Given the description of an element on the screen output the (x, y) to click on. 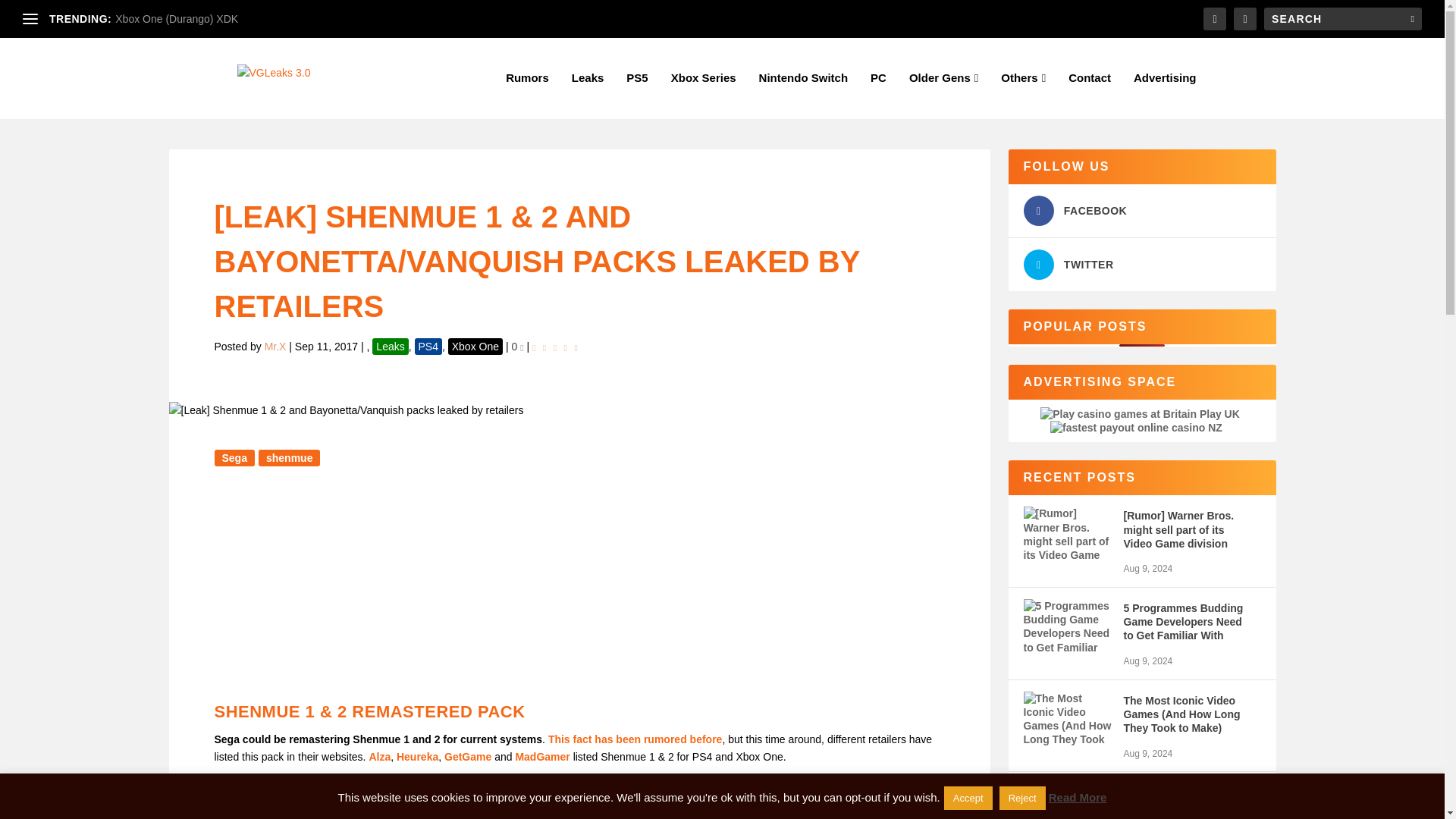
Search for: (1342, 18)
Nintendo Switch (803, 95)
Others (1023, 95)
Rumors (526, 95)
Older Gens (943, 95)
Advertising (1165, 95)
Contact (1089, 95)
Xbox Series (703, 95)
Posts by Mr.X (275, 346)
Rating: 0.00 (557, 346)
